Given the description of an element on the screen output the (x, y) to click on. 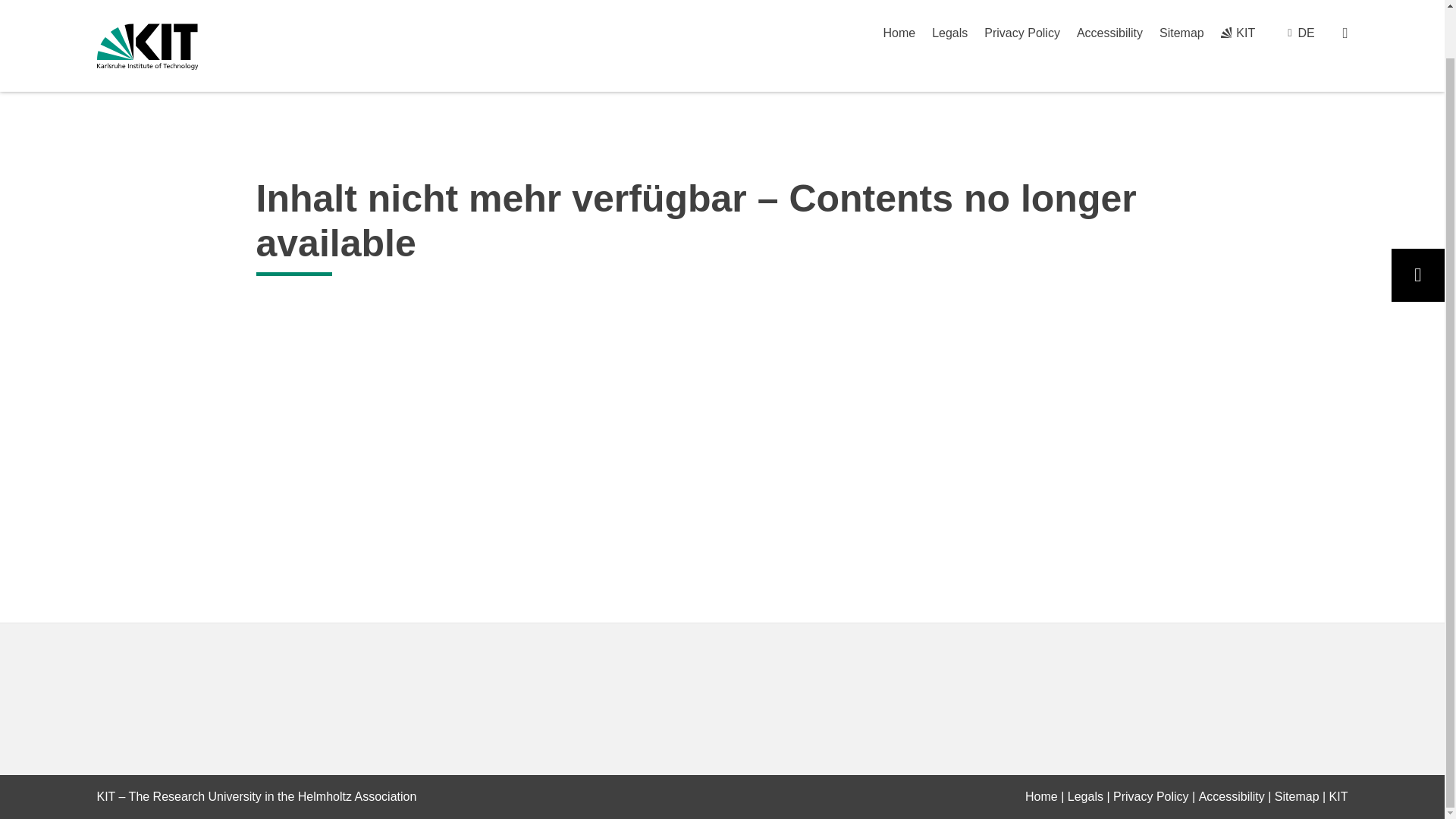
Home (1041, 796)
Privacy Policy (1151, 796)
KIT-Homepage (147, 9)
startpage (1041, 796)
Legals (1085, 796)
Accessibility (1231, 796)
KIT (1338, 796)
Sitemap (1297, 796)
